Given the description of an element on the screen output the (x, y) to click on. 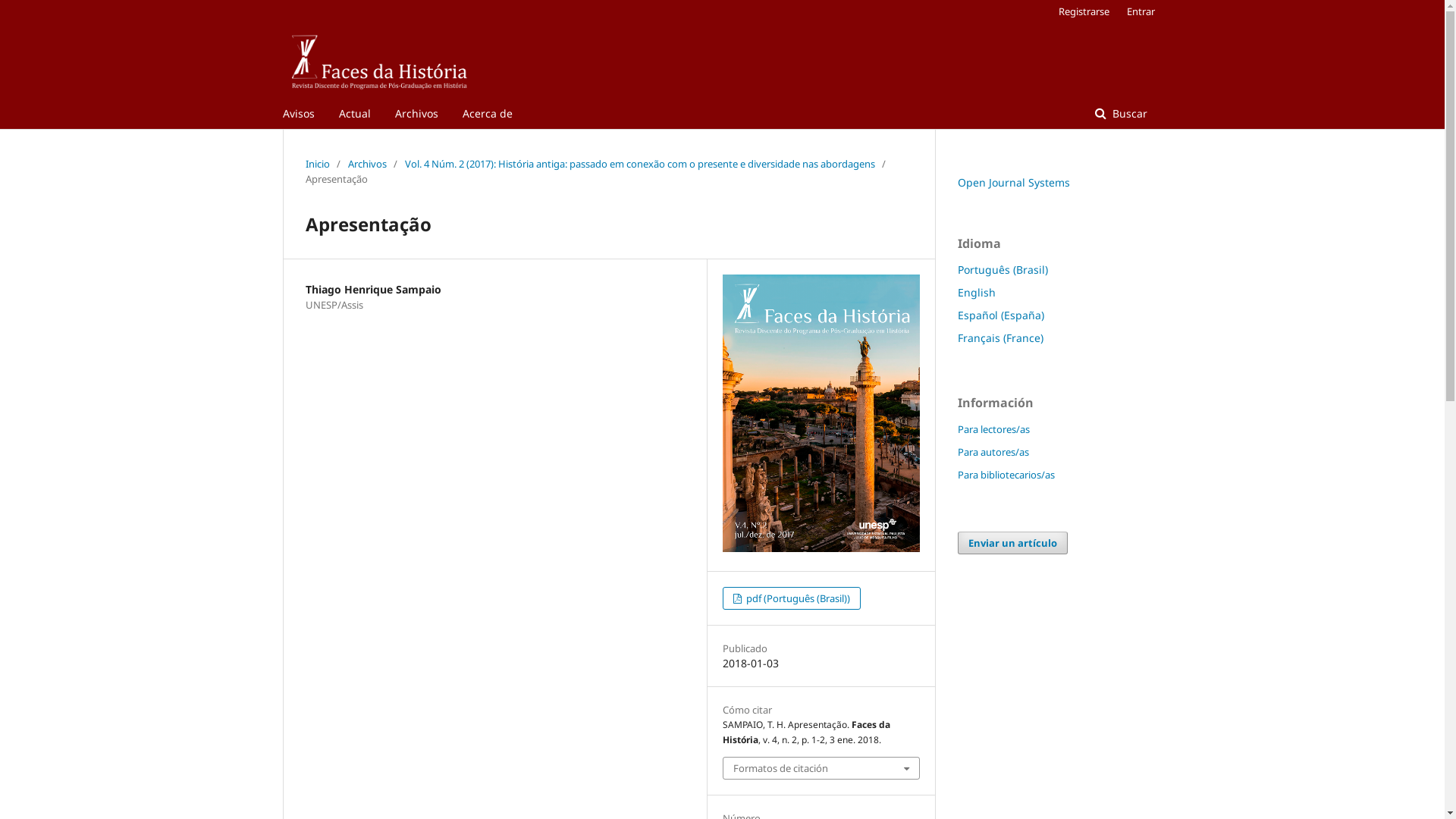
Para lectores/as Element type: text (993, 429)
Inicio Element type: text (316, 163)
Acerca de Element type: text (487, 113)
Para bibliotecarios/as Element type: text (1005, 474)
Buscar Element type: text (1120, 113)
Entrar Element type: text (1136, 11)
Avisos Element type: text (297, 113)
Para autores/as Element type: text (992, 451)
Actual Element type: text (354, 113)
Archivos Element type: text (415, 113)
Open Journal Systems Element type: text (1013, 182)
English Element type: text (975, 292)
Registrarse Element type: text (1084, 11)
Archivos Element type: text (366, 163)
